Given the description of an element on the screen output the (x, y) to click on. 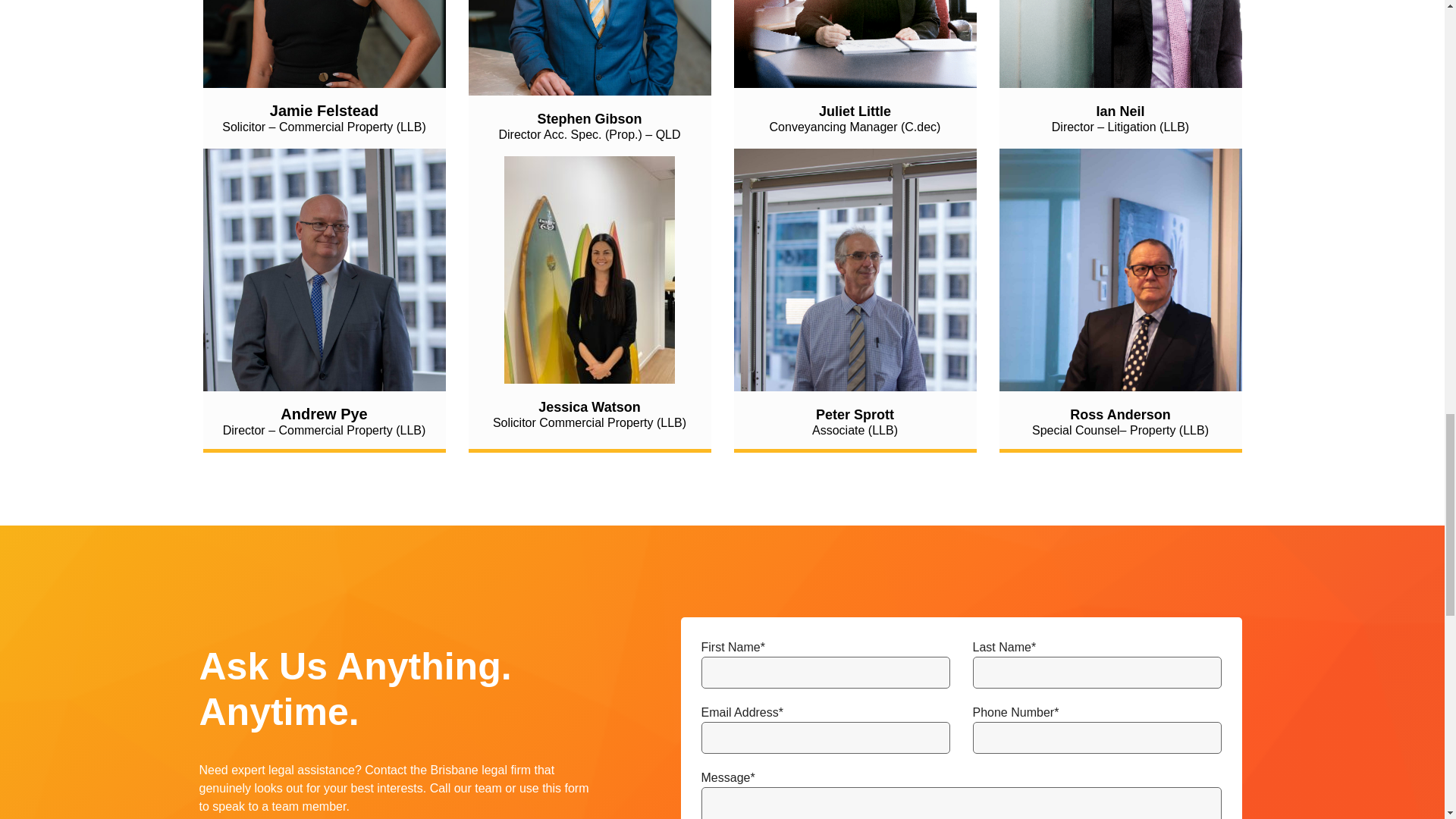
Ross Anderson (1119, 269)
Jamie Felstead (324, 43)
